Given the description of an element on the screen output the (x, y) to click on. 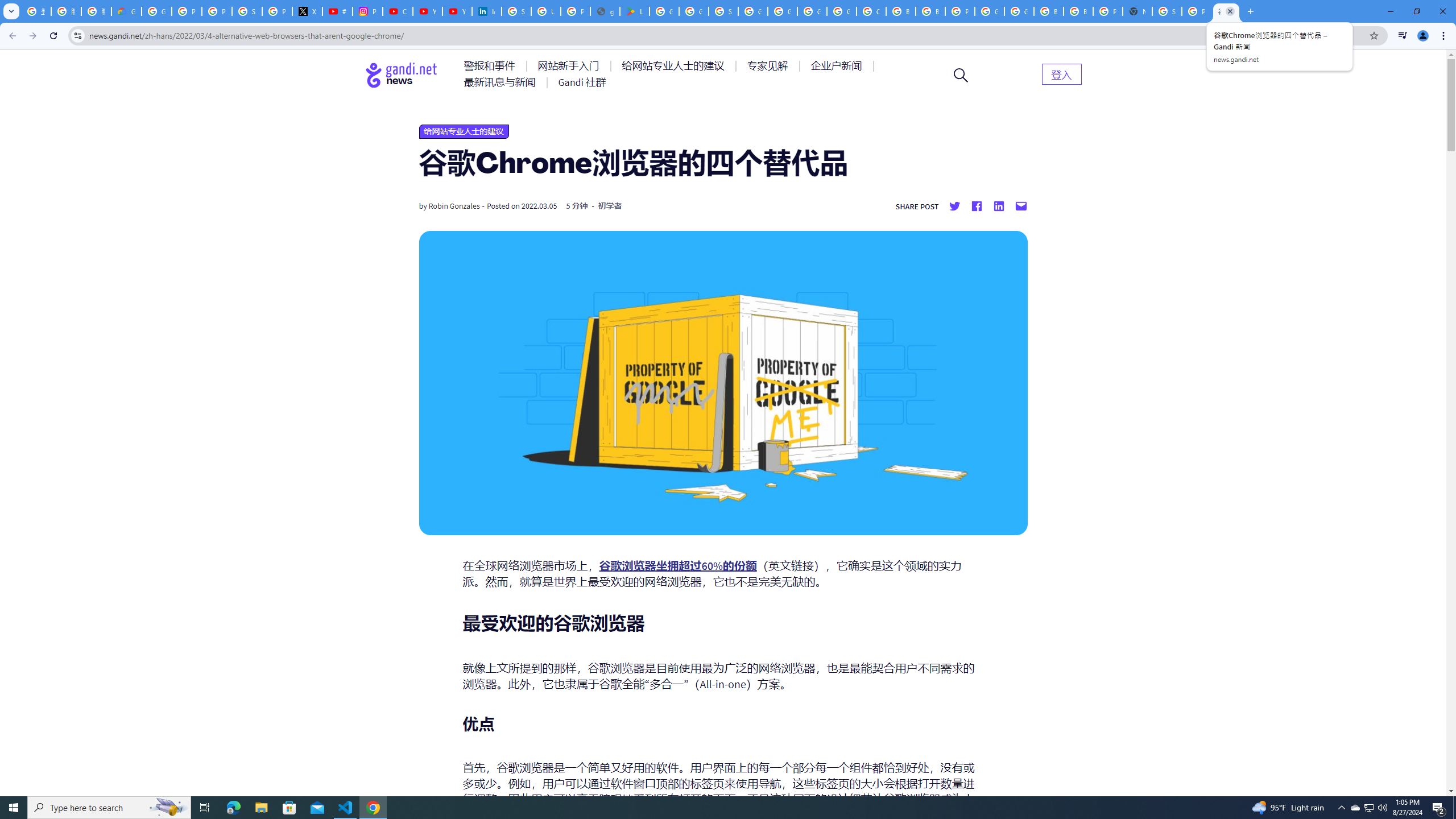
New Tab (1137, 11)
Google Cloud Platform (1018, 11)
Google Cloud Platform (989, 11)
Go to home (401, 75)
Sign in - Google Accounts (515, 11)
